Given the description of an element on the screen output the (x, y) to click on. 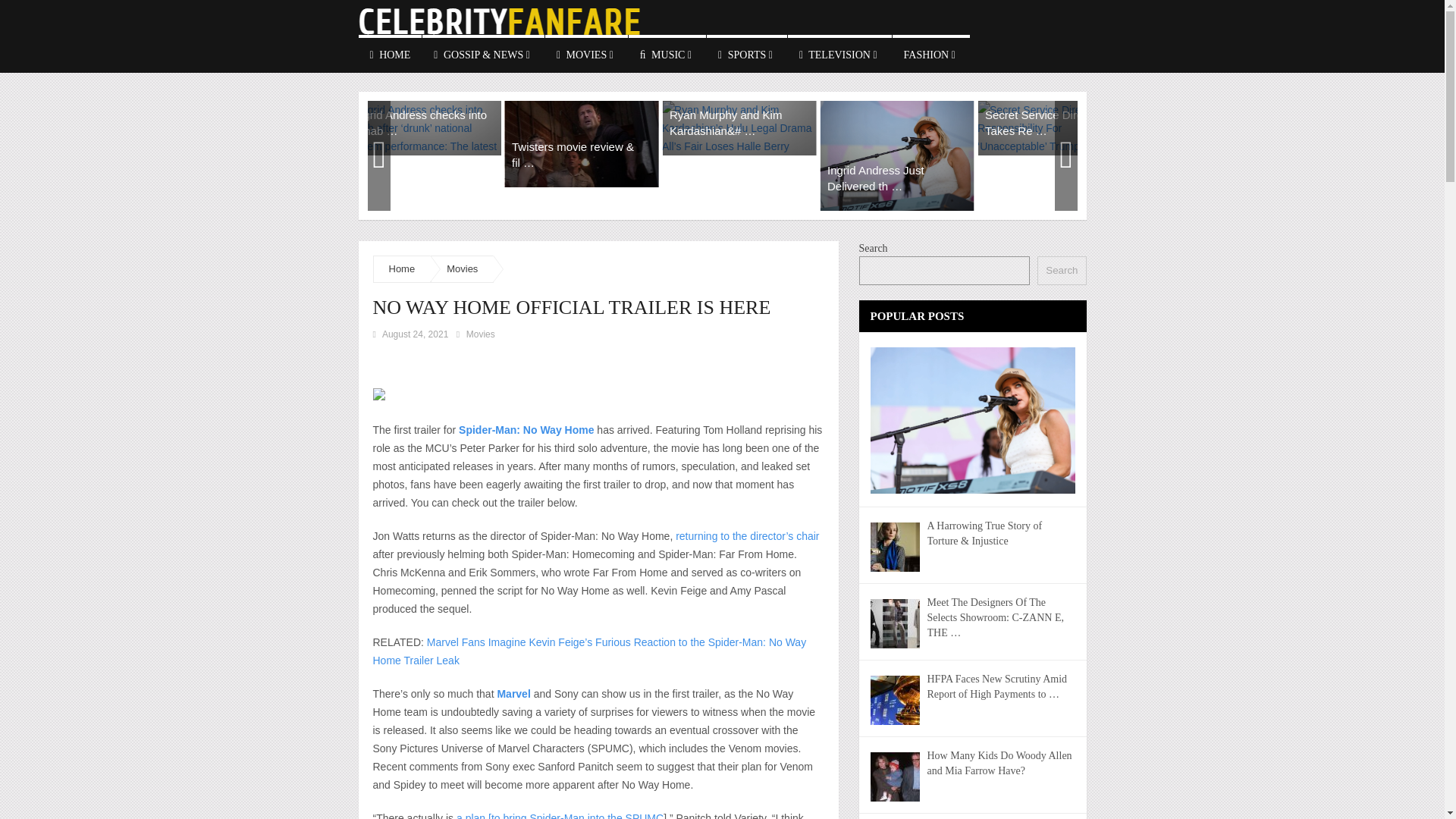
HOME (390, 53)
FASHION (930, 53)
MOVIES (585, 53)
SPORTS (746, 53)
TELEVISION (839, 53)
MUSIC (667, 53)
